Given the description of an element on the screen output the (x, y) to click on. 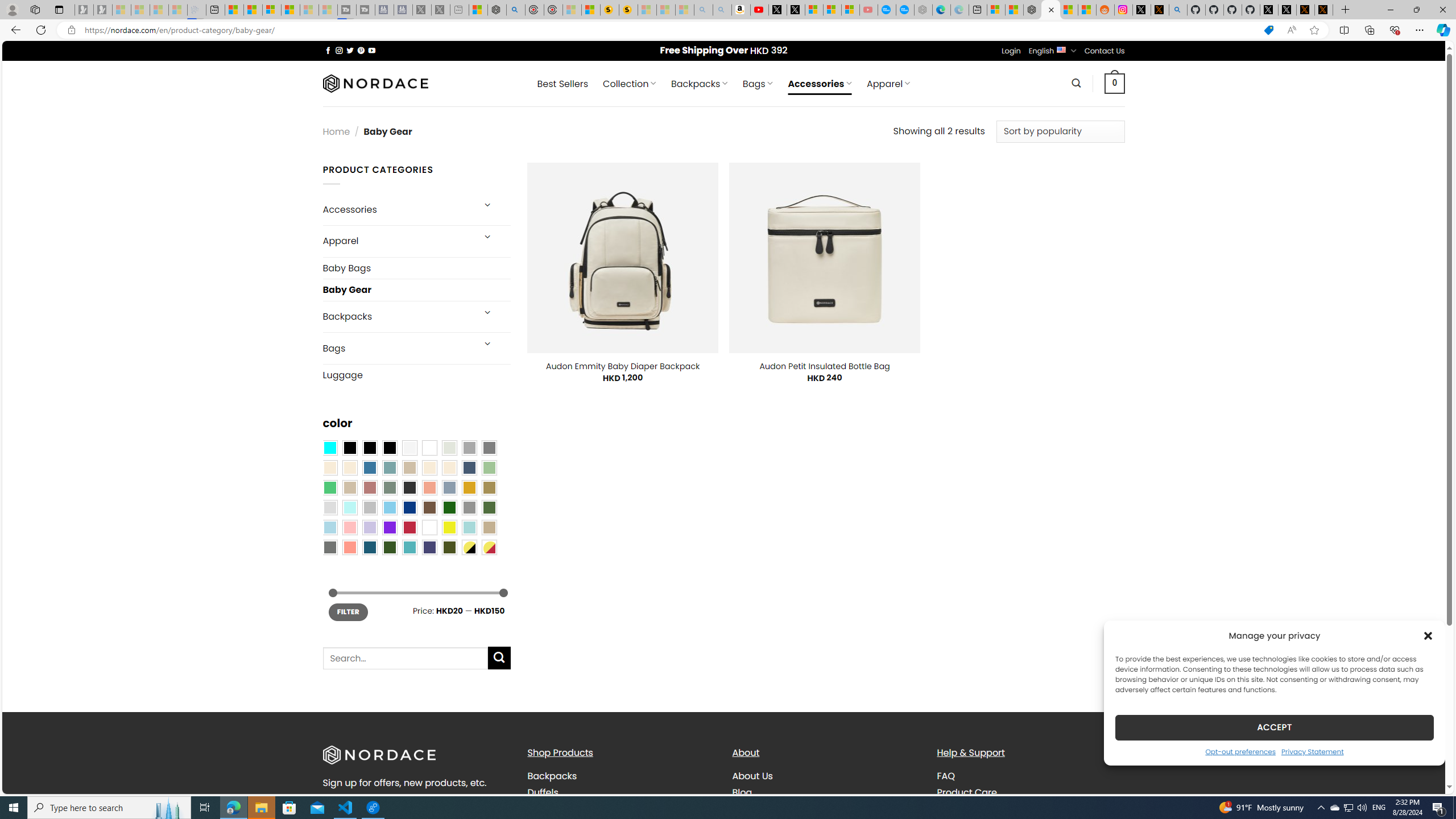
Baby Bags (416, 268)
Sky Blue (389, 507)
Opt-out preferences (1240, 750)
 0  (1115, 83)
ACCEPT (1274, 727)
Beige (329, 467)
Bags (397, 348)
Navy Blue (408, 507)
